Given the description of an element on the screen output the (x, y) to click on. 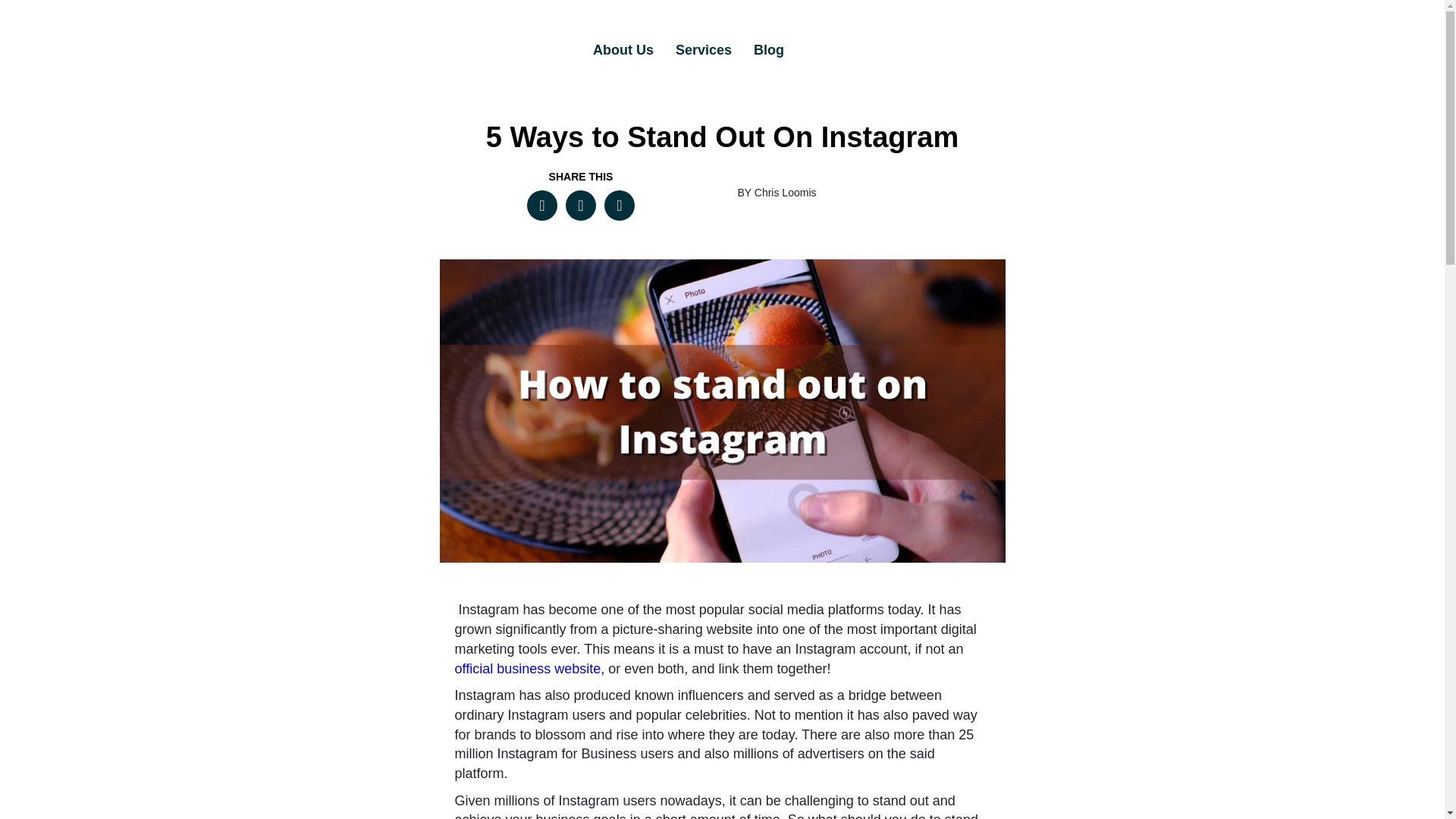
official business website, (529, 668)
About Us (622, 50)
Blog (768, 50)
Services (703, 50)
